Given the description of an element on the screen output the (x, y) to click on. 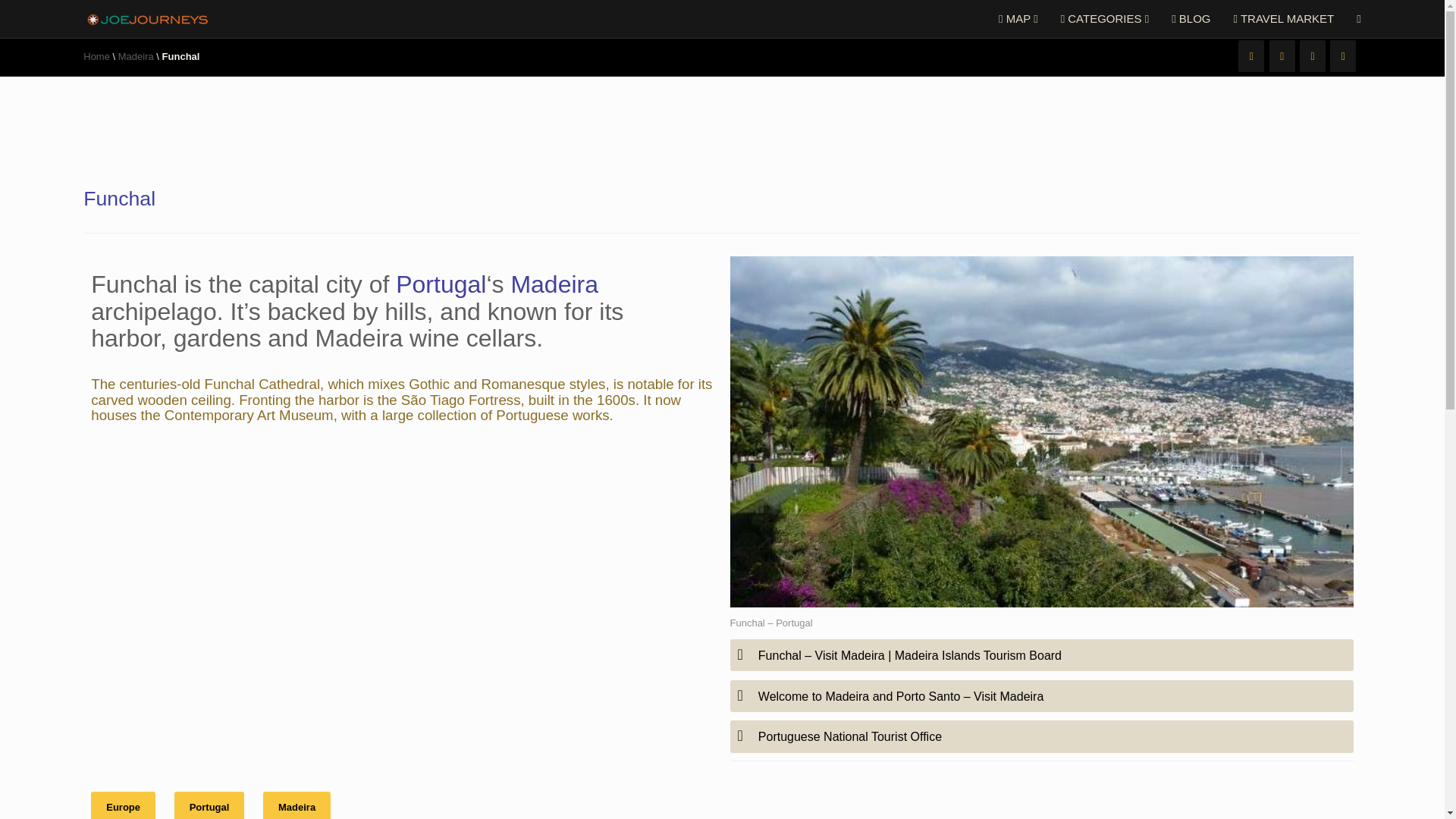
Portugal (441, 284)
MAP (1018, 18)
CATEGORIES (1104, 18)
Portugal (209, 805)
Home (96, 56)
TRAVEL MARKET (1284, 18)
Madeira (135, 56)
BLOG (1190, 18)
Madeira (296, 805)
Europe (122, 805)
